Given the description of an element on the screen output the (x, y) to click on. 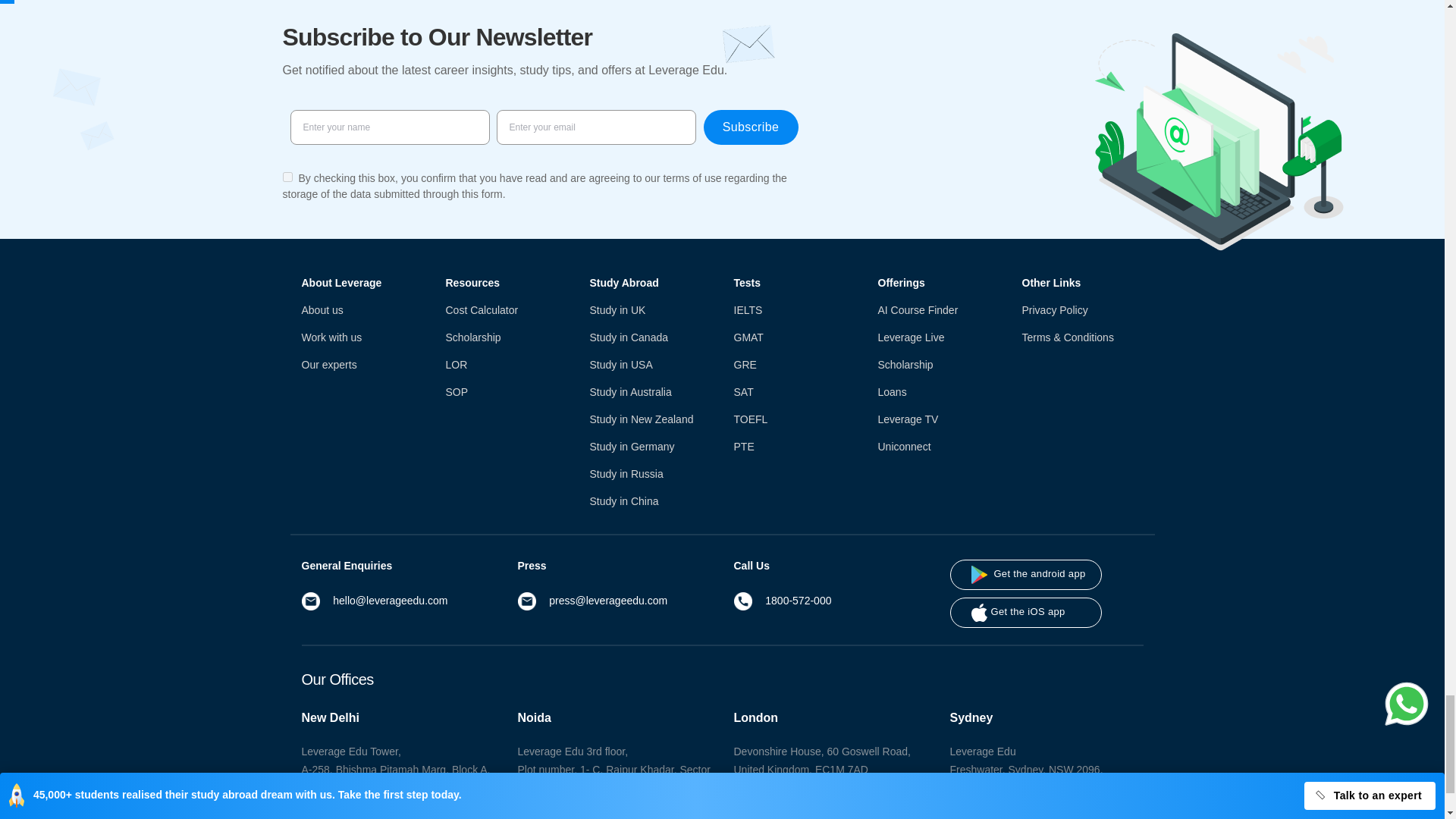
on (287, 176)
